Given the description of an element on the screen output the (x, y) to click on. 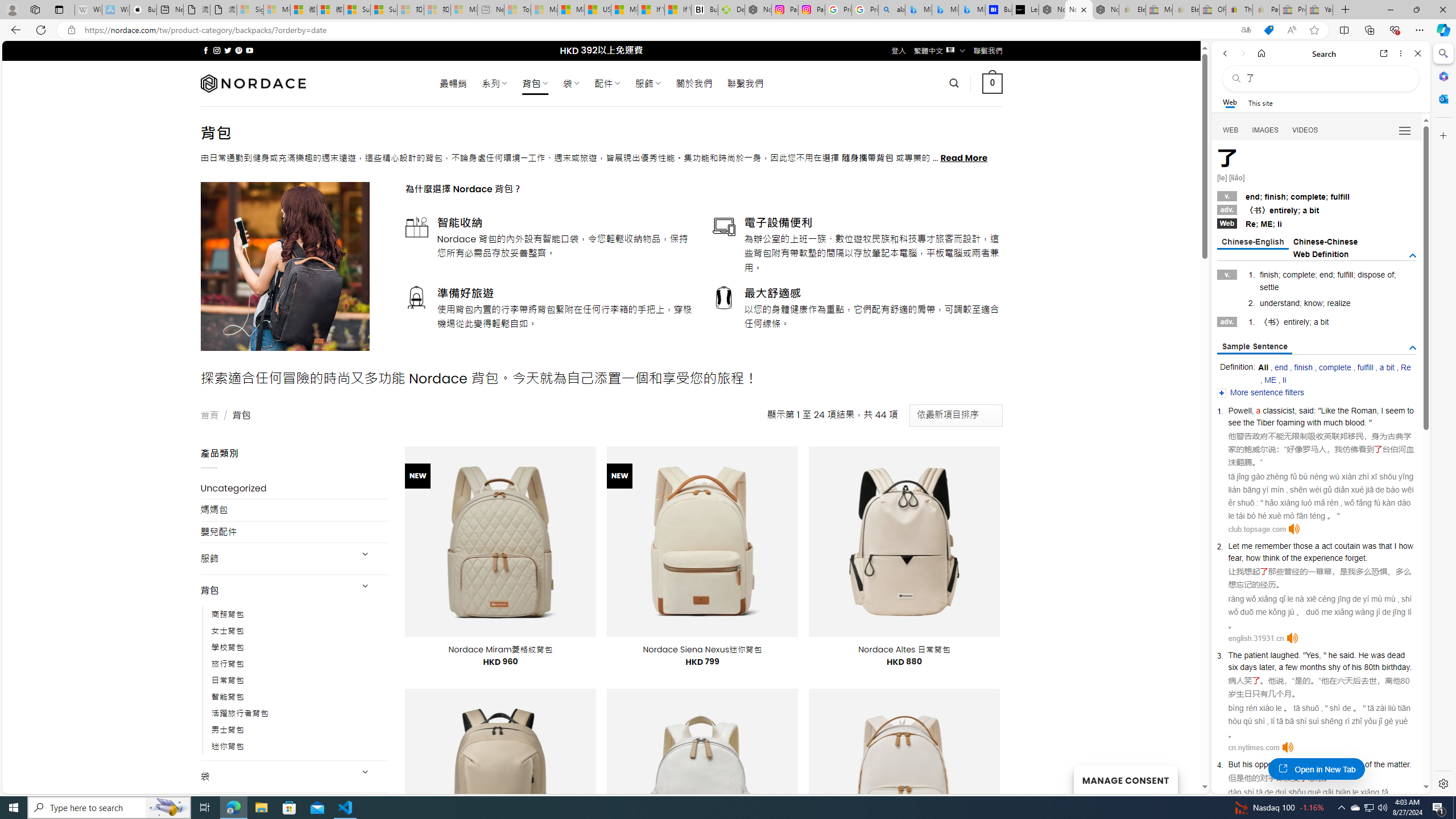
complete (1334, 367)
